Given the description of an element on the screen output the (x, y) to click on. 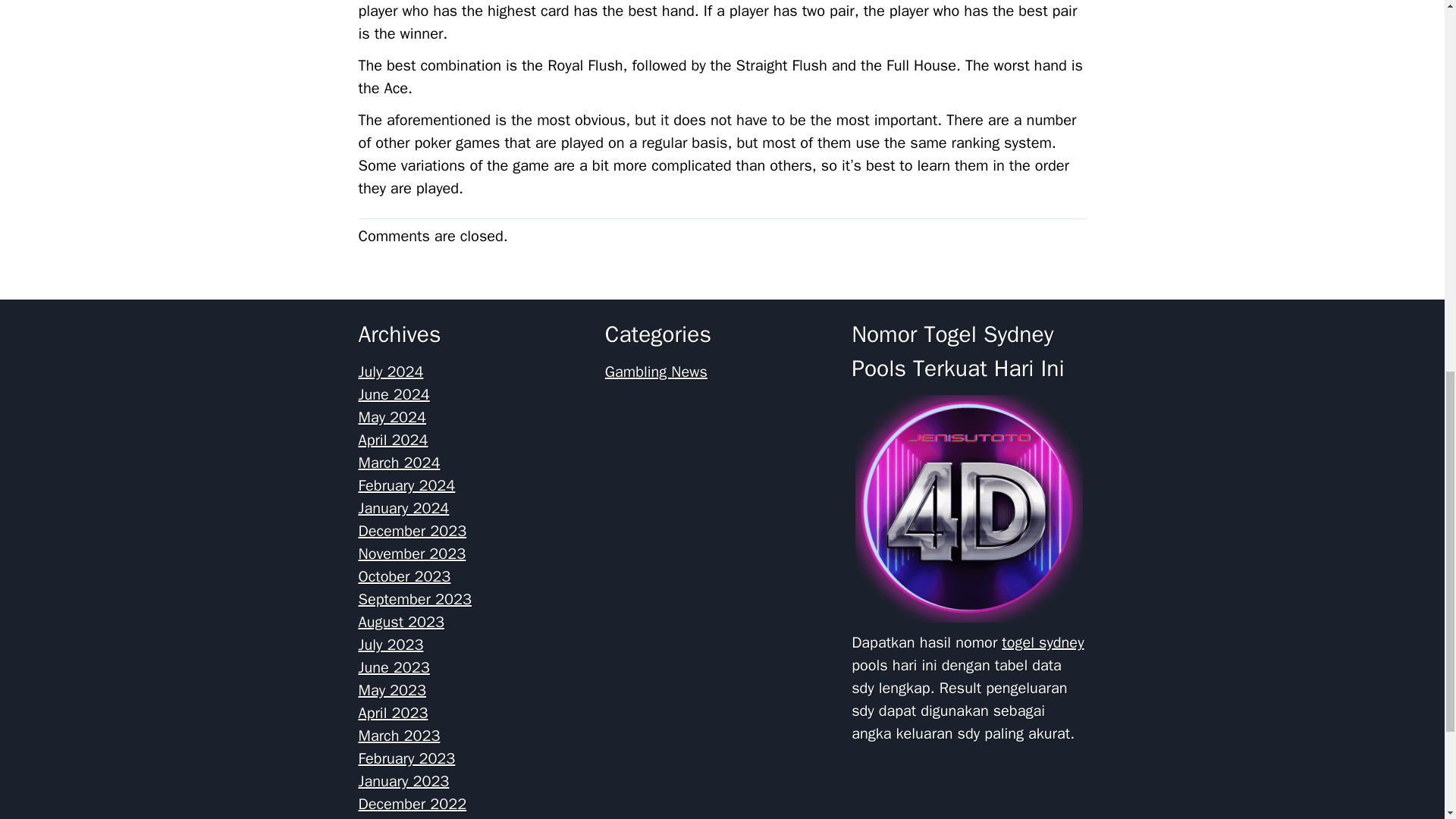
February 2024 (406, 485)
June 2024 (393, 394)
September 2023 (414, 599)
May 2024 (392, 416)
Gambling News (656, 371)
June 2023 (393, 667)
May 2023 (392, 690)
December 2023 (411, 530)
January 2023 (403, 781)
February 2023 (406, 758)
November 2023 (411, 553)
togel sydney (1042, 642)
October 2023 (403, 576)
togel sydney (969, 508)
July 2024 (390, 371)
